Given the description of an element on the screen output the (x, y) to click on. 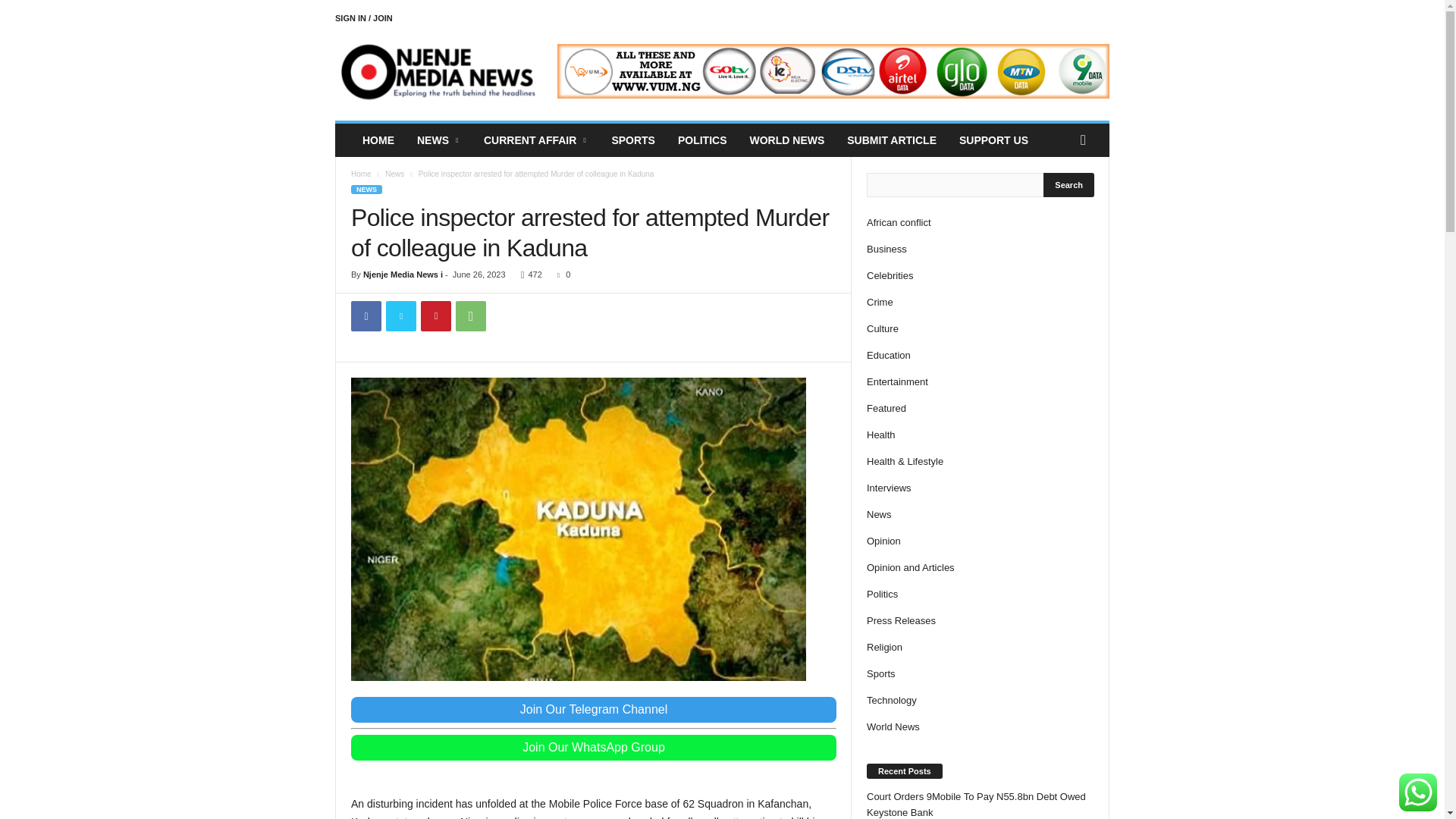
Twitter (400, 316)
POLITICS (702, 140)
CURRENT AFFAIR (535, 140)
HOME (378, 140)
Search (1068, 184)
SUPPORT US (993, 140)
View all posts in News (394, 173)
WORLD NEWS (786, 140)
SPORTS (632, 140)
WhatsApp (470, 316)
SUBMIT ARTICLE (891, 140)
Pinterest (435, 316)
NEWS (438, 140)
Njenje Media News (437, 70)
